Given the description of an element on the screen output the (x, y) to click on. 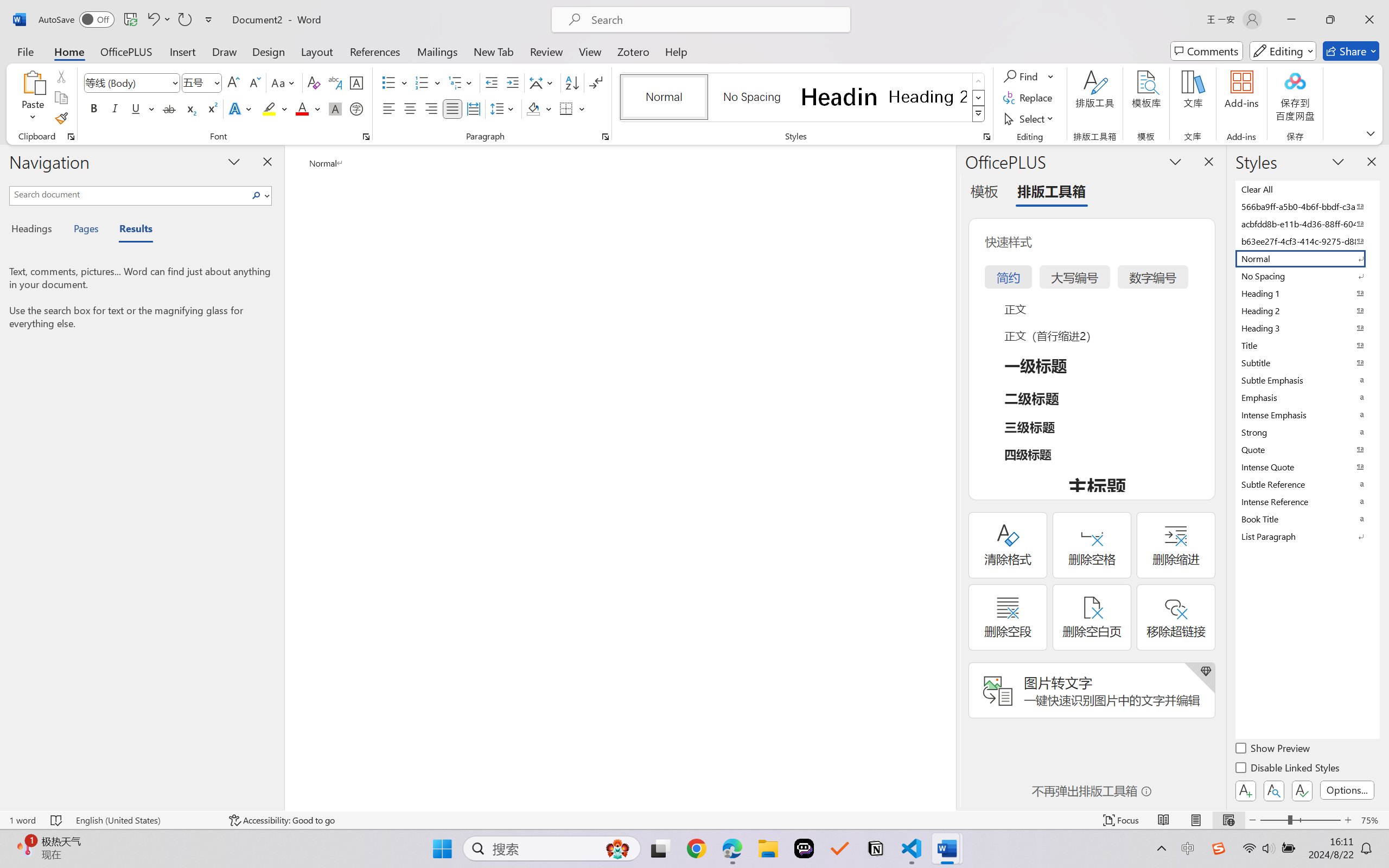
Class: NetUIScrollBar (948, 477)
Subtitle (1306, 362)
Row up (978, 81)
Align Right (431, 108)
Title (1306, 345)
Bold (94, 108)
AutoSave (76, 19)
Text Effects and Typography (241, 108)
Home (69, 51)
